Given the description of an element on the screen output the (x, y) to click on. 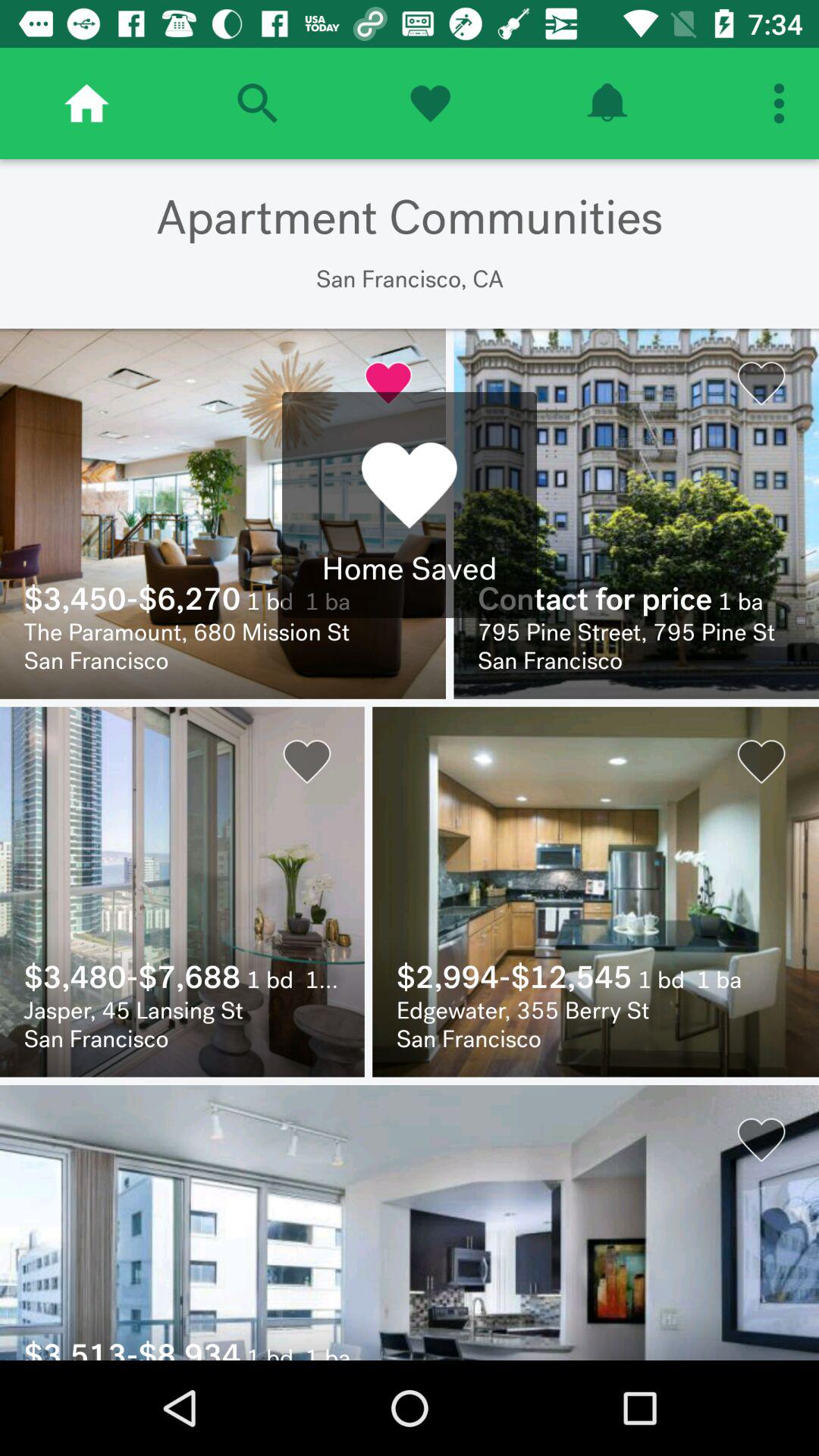
search for apartments (257, 103)
